Given the description of an element on the screen output the (x, y) to click on. 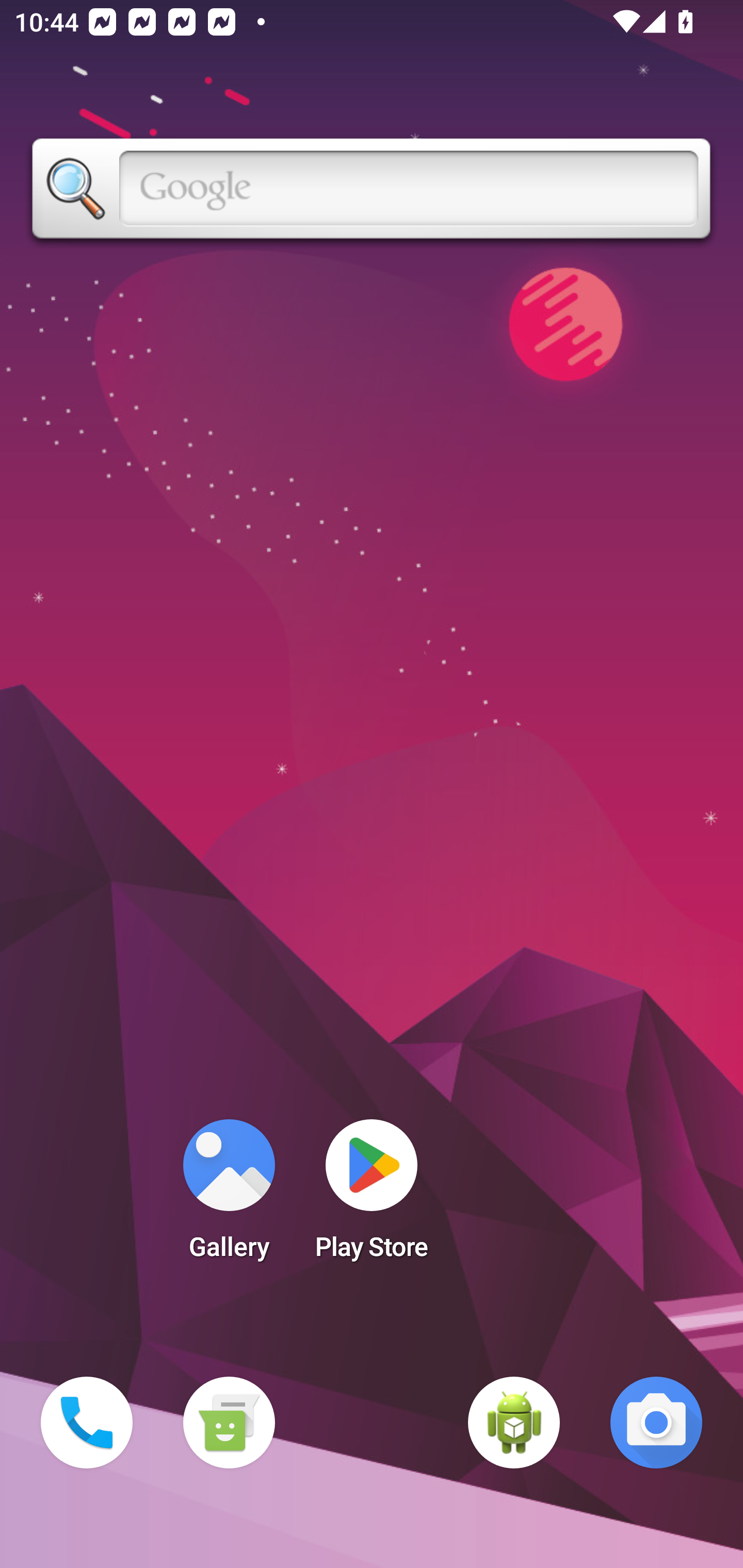
Gallery (228, 1195)
Play Store (371, 1195)
Phone (86, 1422)
Messaging (228, 1422)
WebView Browser Tester (513, 1422)
Camera (656, 1422)
